Given the description of an element on the screen output the (x, y) to click on. 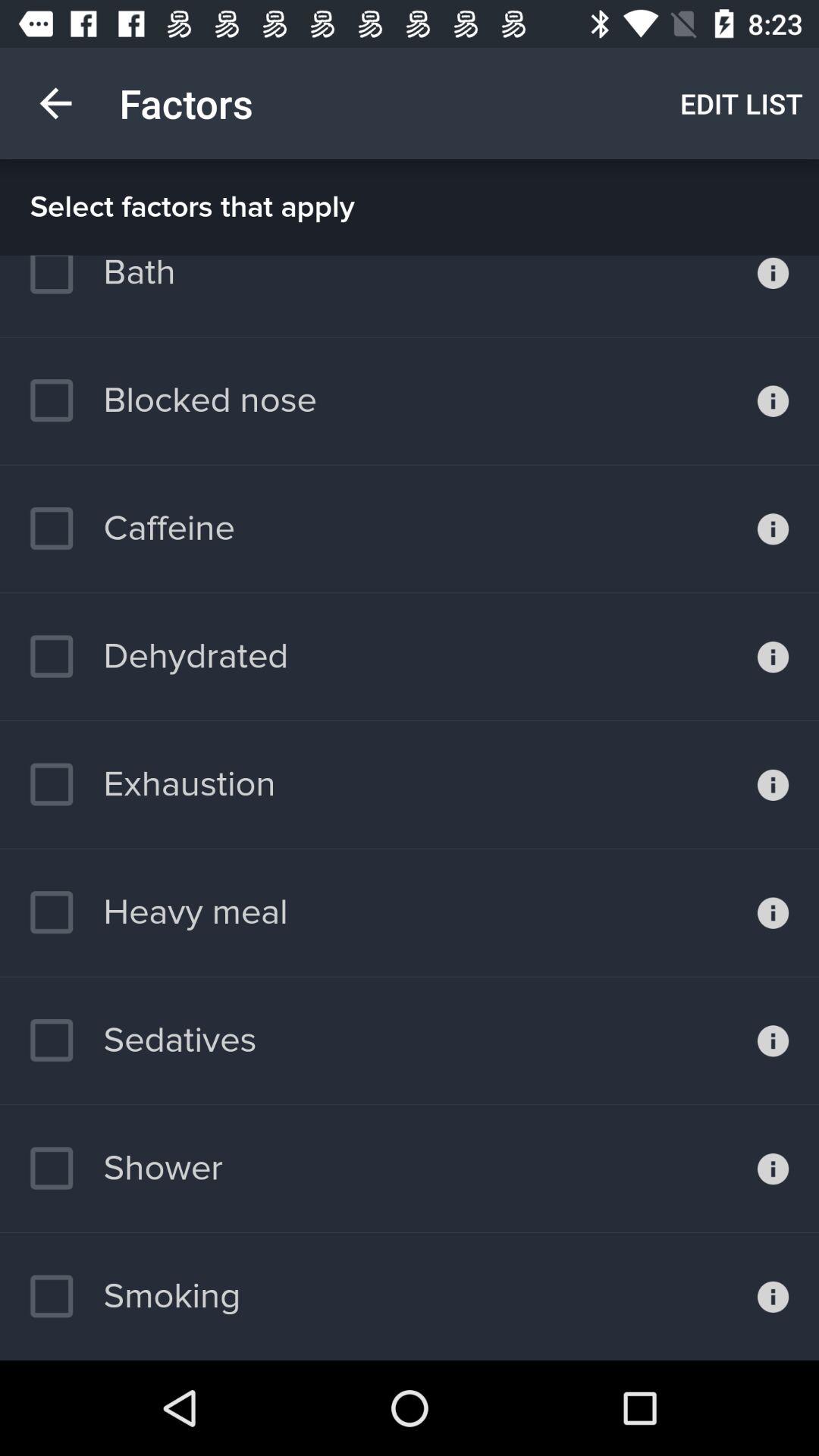
click the smoking icon (135, 1296)
